Given the description of an element on the screen output the (x, y) to click on. 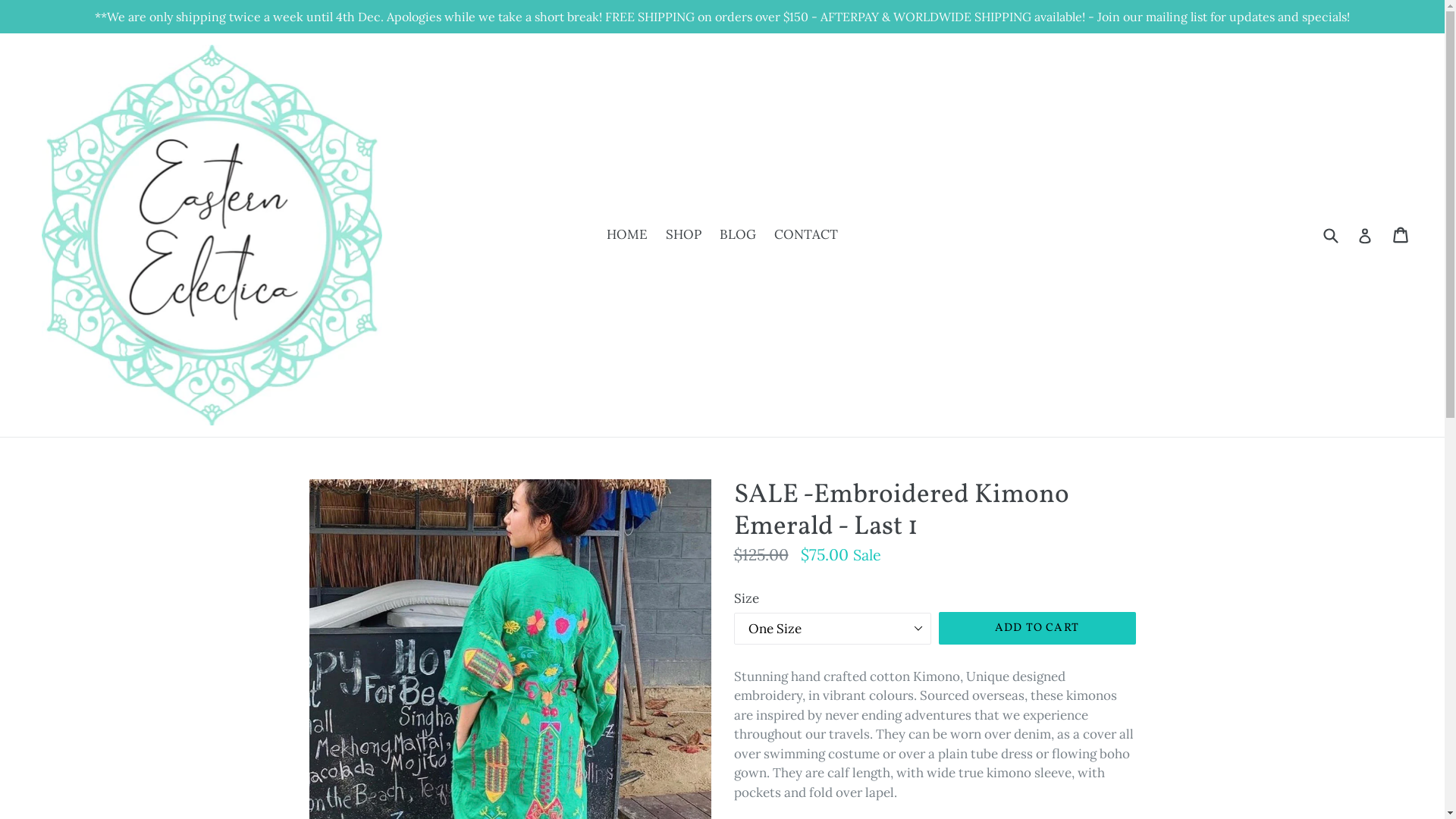
SHOP Element type: text (683, 234)
CONTACT Element type: text (805, 234)
Cart
Cart Element type: text (1401, 234)
ADD TO CART Element type: text (1036, 627)
BLOG Element type: text (737, 234)
HOME Element type: text (627, 234)
Submit Element type: text (1329, 235)
Log in Element type: text (1364, 235)
